Given the description of an element on the screen output the (x, y) to click on. 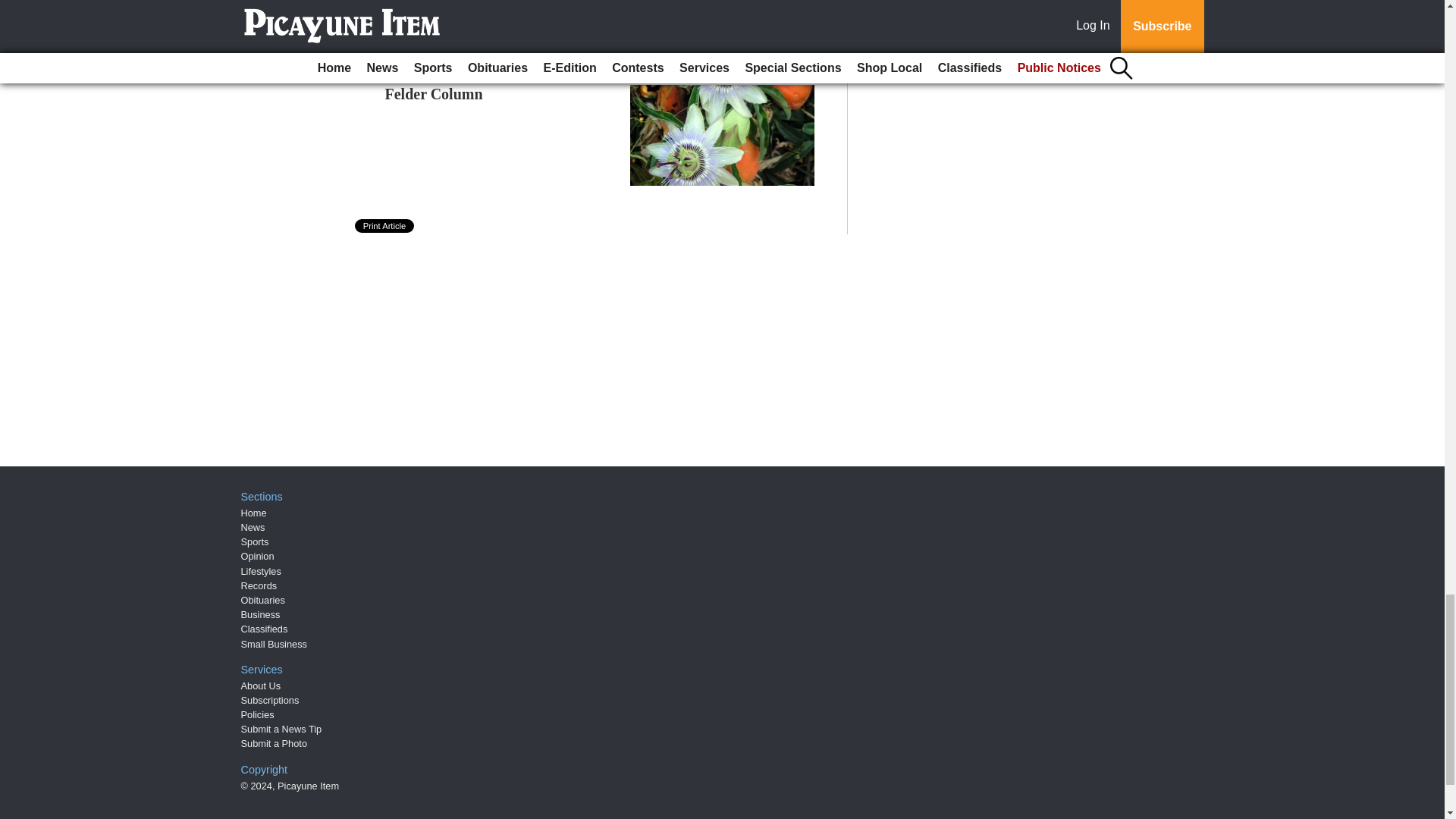
Felder Column (434, 93)
Felder Column (434, 93)
Sports (255, 541)
News (252, 527)
Home (253, 512)
Print Article (384, 225)
